Given the description of an element on the screen output the (x, y) to click on. 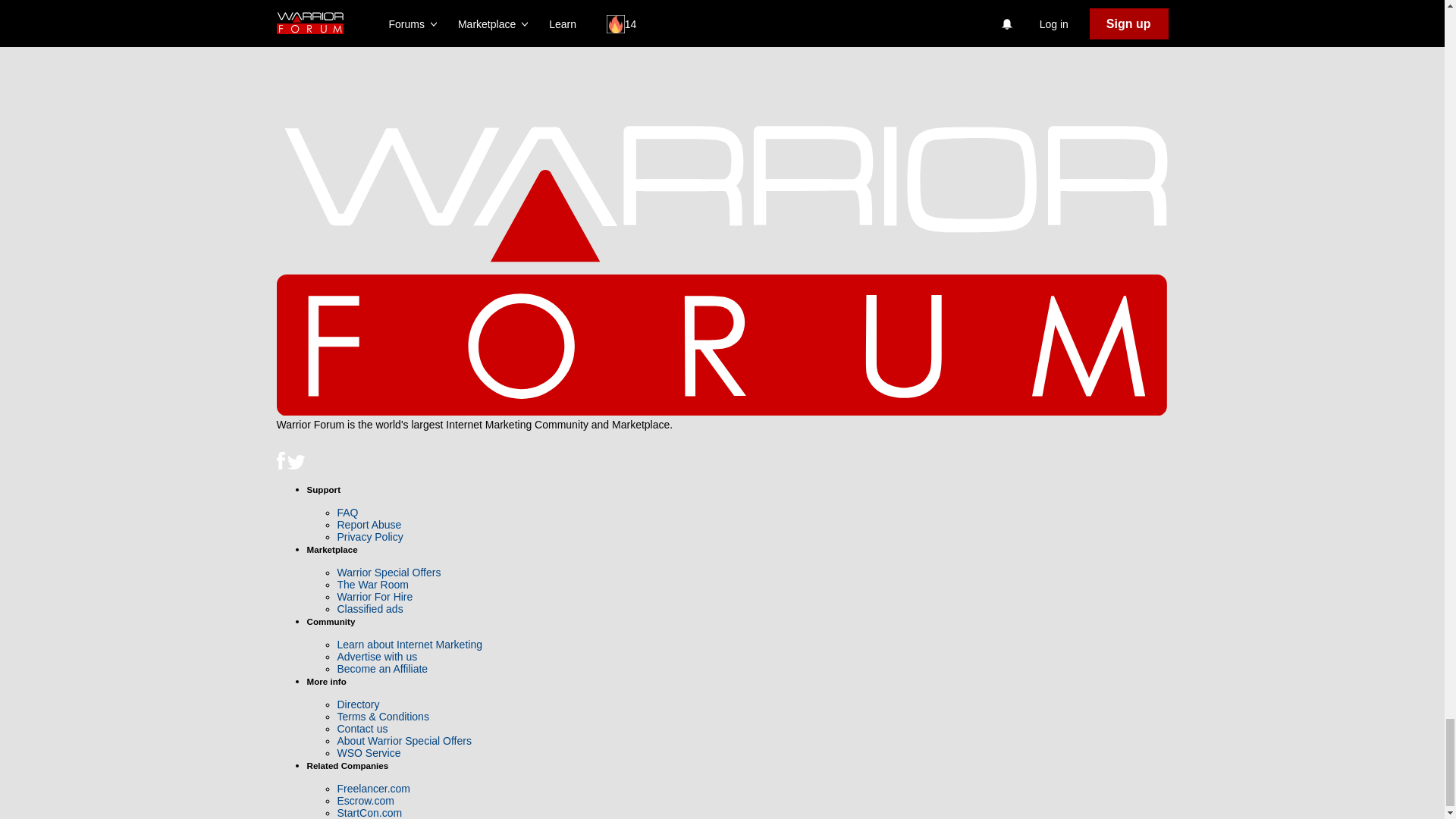
Warrior Forum on Facebook (281, 466)
Bird (295, 462)
